Given the description of an element on the screen output the (x, y) to click on. 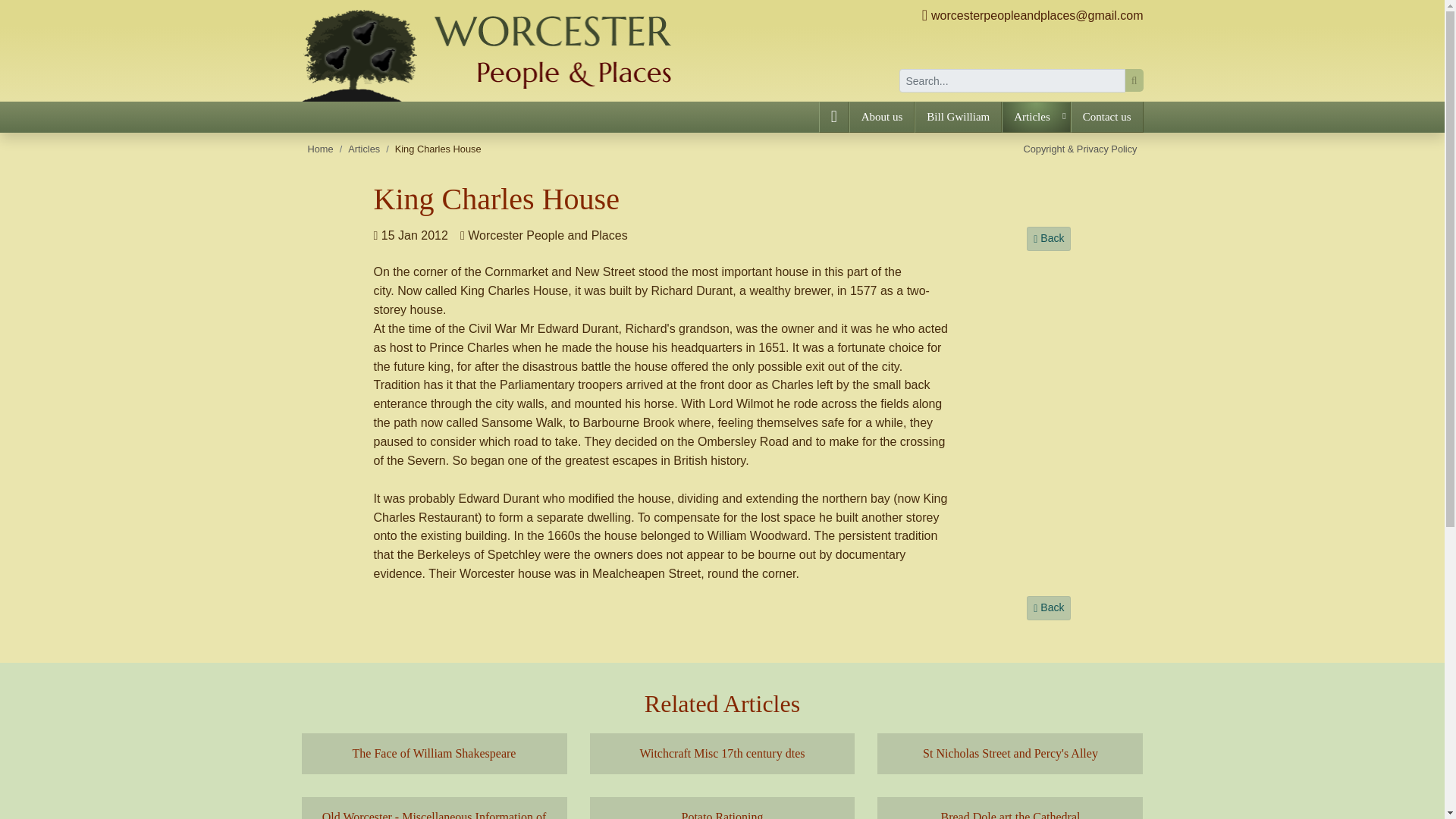
Articles (1035, 116)
Contact us (1106, 116)
Bill Gwilliam (957, 116)
Home (320, 148)
Articles (363, 148)
About us (881, 116)
